Given the description of an element on the screen output the (x, y) to click on. 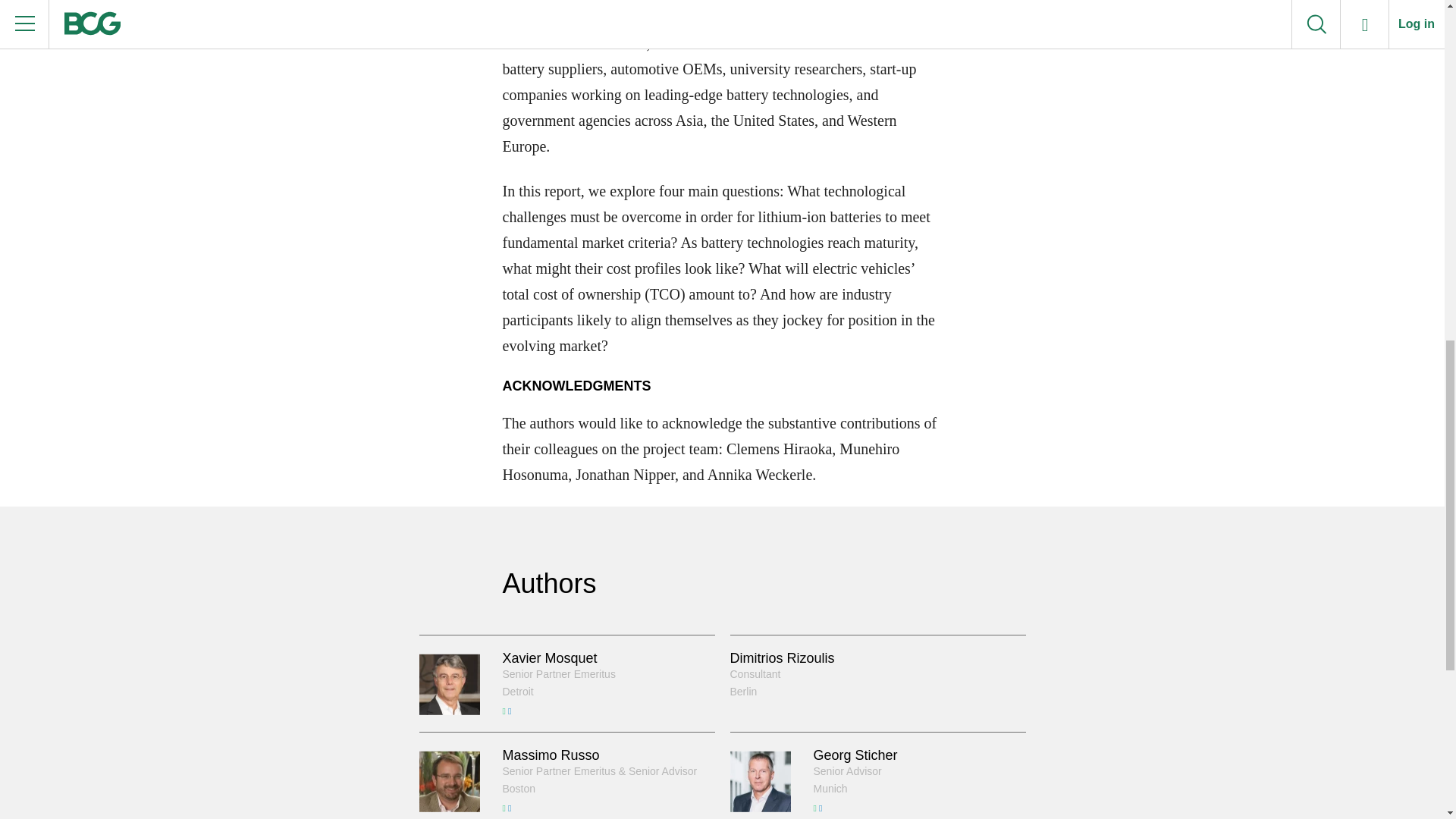
Massimo Russo (550, 754)
Xavier Mosquet (549, 657)
